Given the description of an element on the screen output the (x, y) to click on. 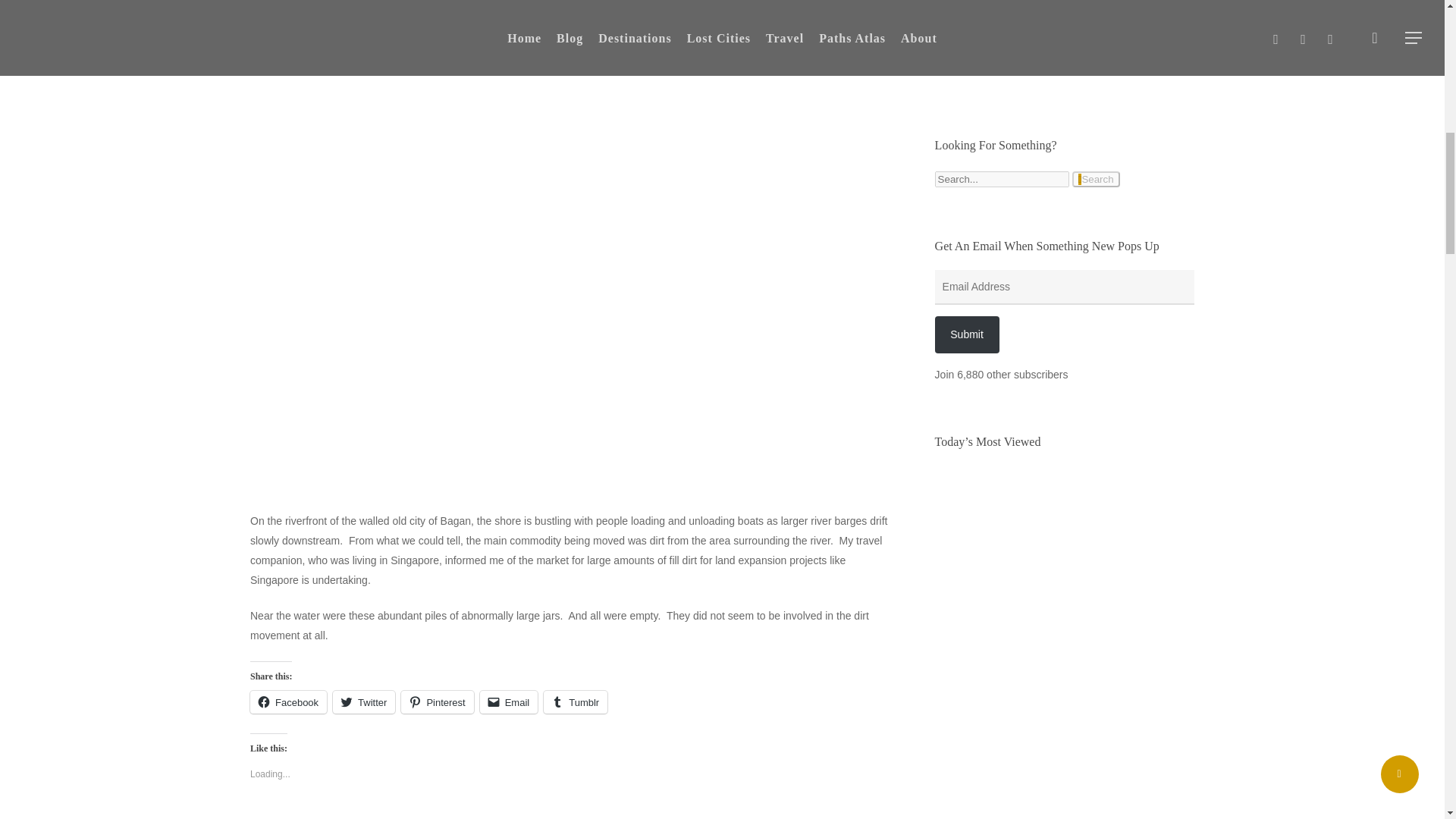
Click to share on Twitter (363, 702)
Search for: (1001, 179)
Cultural Profile: Lanna Kingdom, Heirs of Northern Thailand (998, 661)
Click to share on Tumblr (575, 702)
Click to share on Facebook (288, 702)
Click to share on Pinterest (437, 702)
Click to email a link to a friend (509, 702)
The Chongqing Days: Bomb Shelter Hot Pot (998, 774)
